Given the description of an element on the screen output the (x, y) to click on. 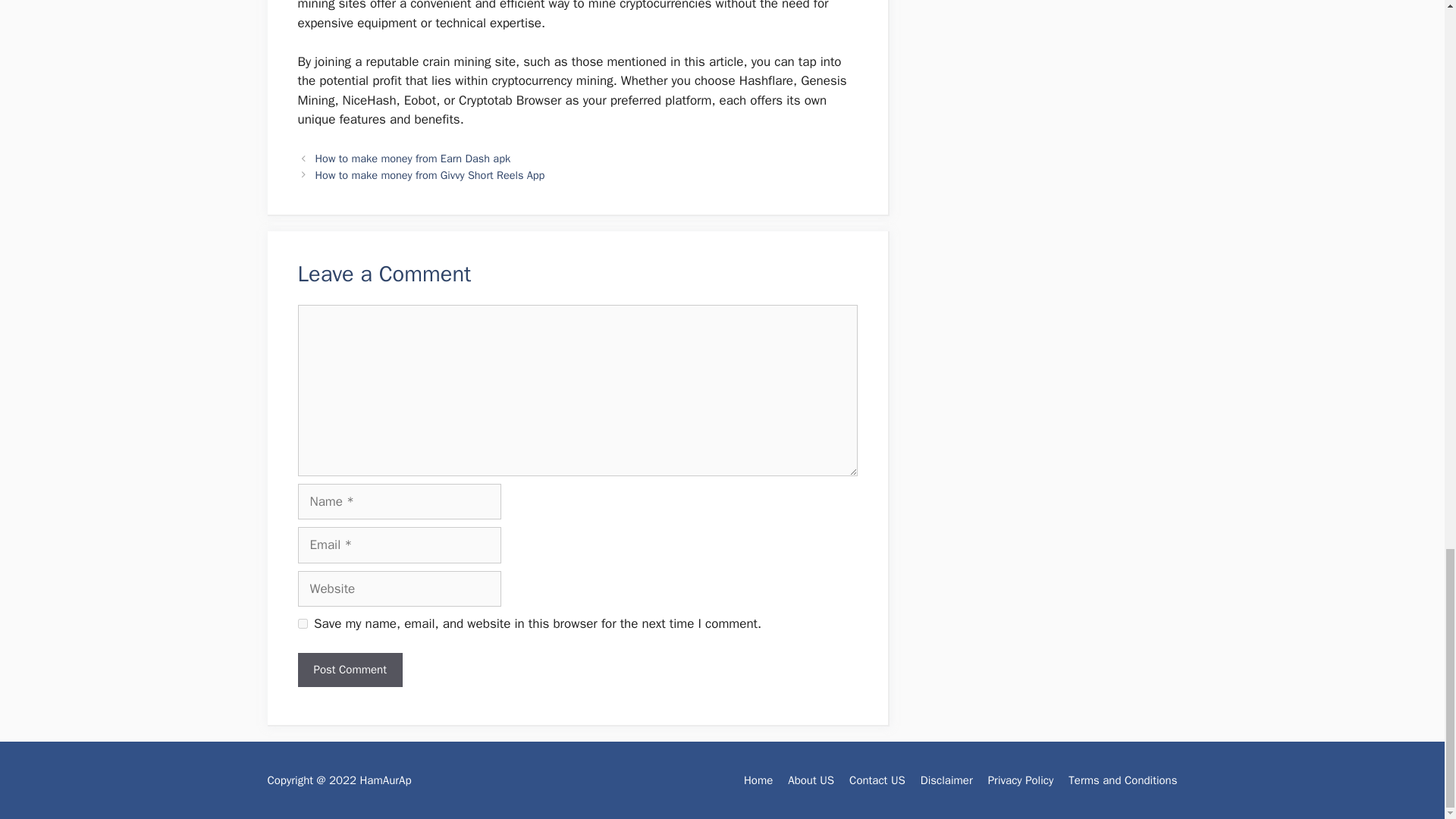
Post Comment (349, 669)
yes (302, 623)
How to make money from Givvy Short Reels App (429, 174)
How to make money from Earn Dash apk (413, 158)
Post Comment (349, 669)
